Given the description of an element on the screen output the (x, y) to click on. 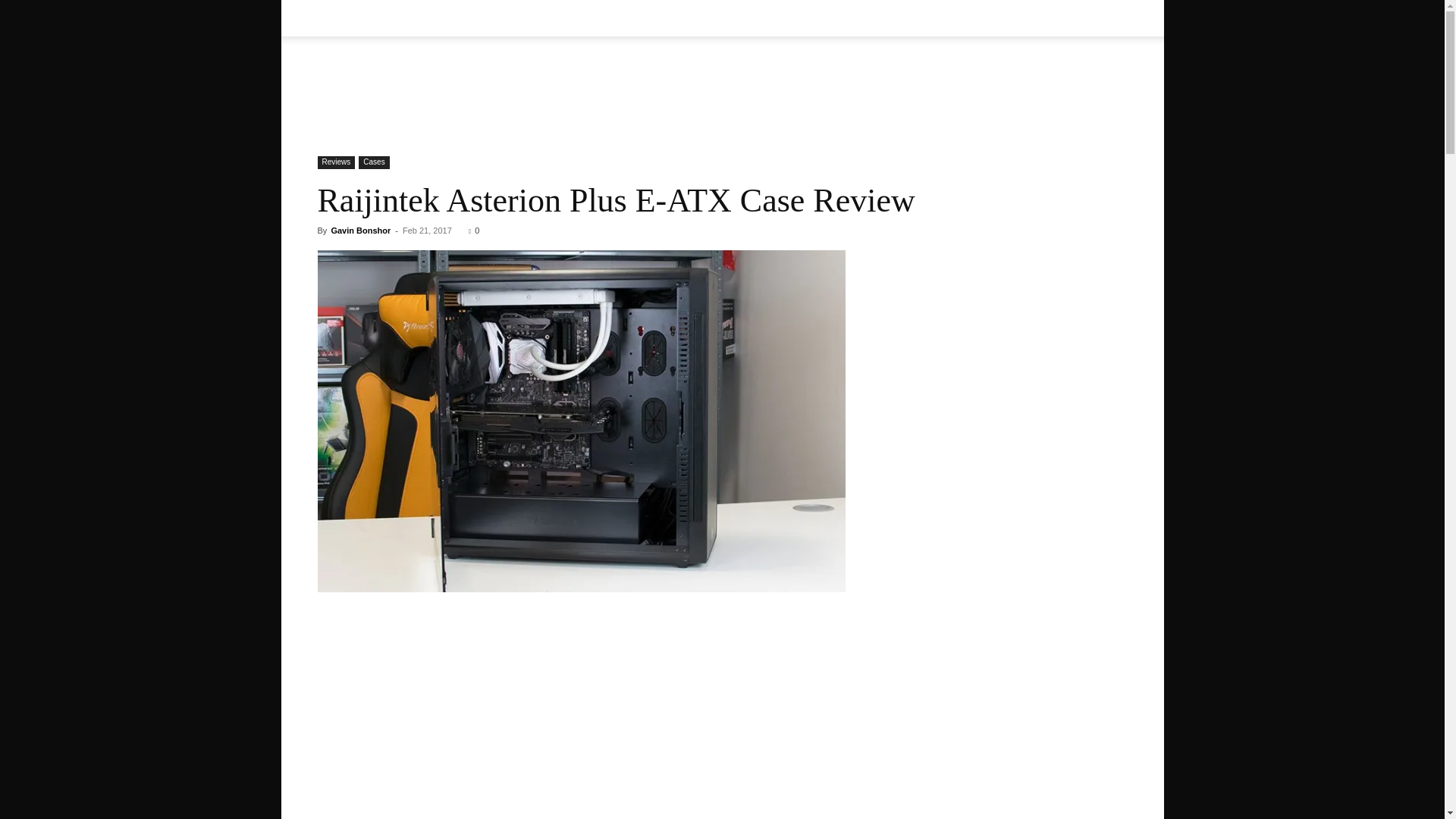
NEWS (455, 18)
REVIEWS (523, 18)
YouTube player (580, 757)
HOME (343, 18)
ABOUT (399, 18)
